Given the description of an element on the screen output the (x, y) to click on. 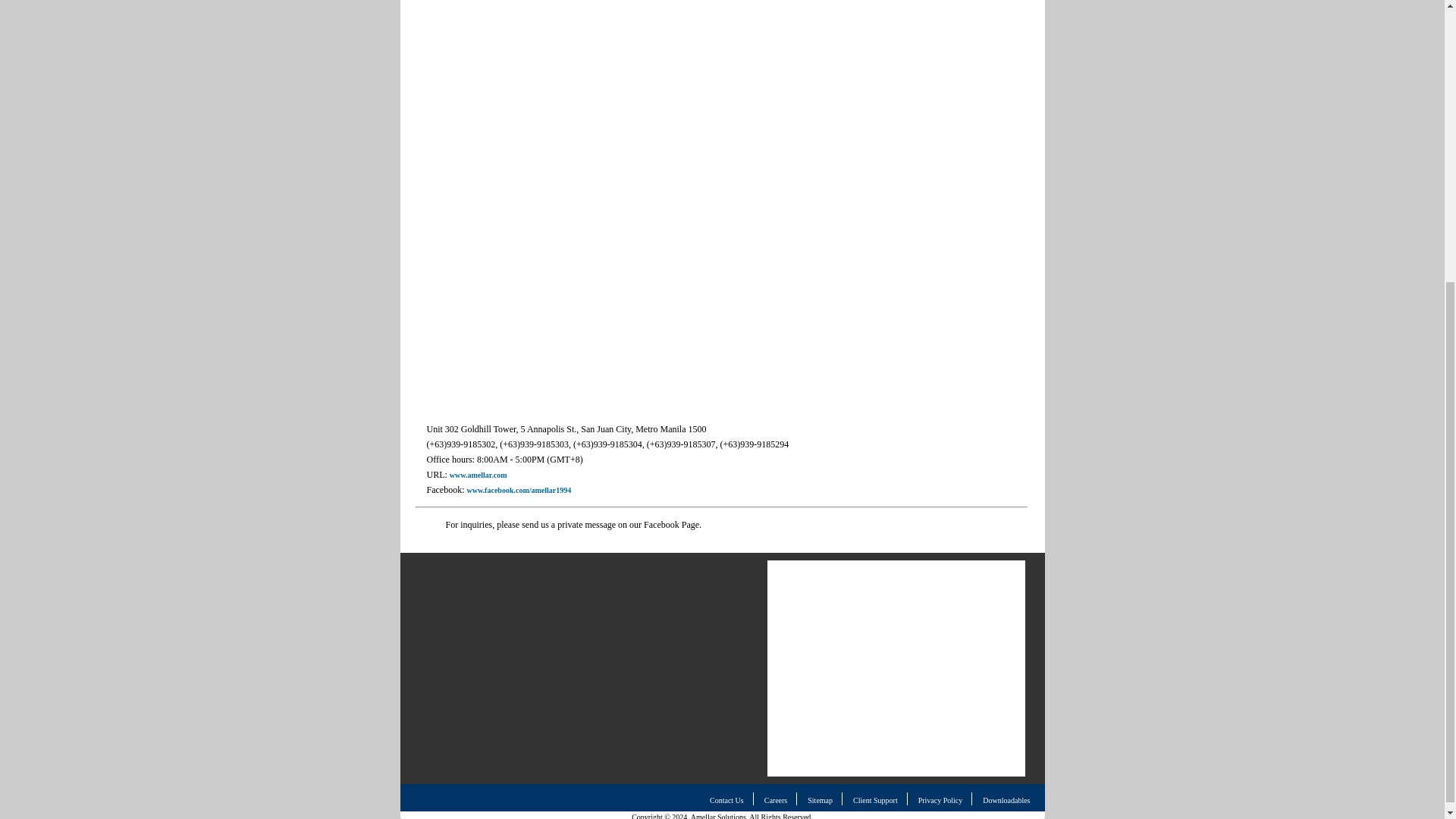
Client Support (875, 800)
www.amellar.com (477, 474)
Sitemap (820, 800)
Careers (775, 800)
Careers (775, 800)
Contact Us (727, 800)
